Given the description of an element on the screen output the (x, y) to click on. 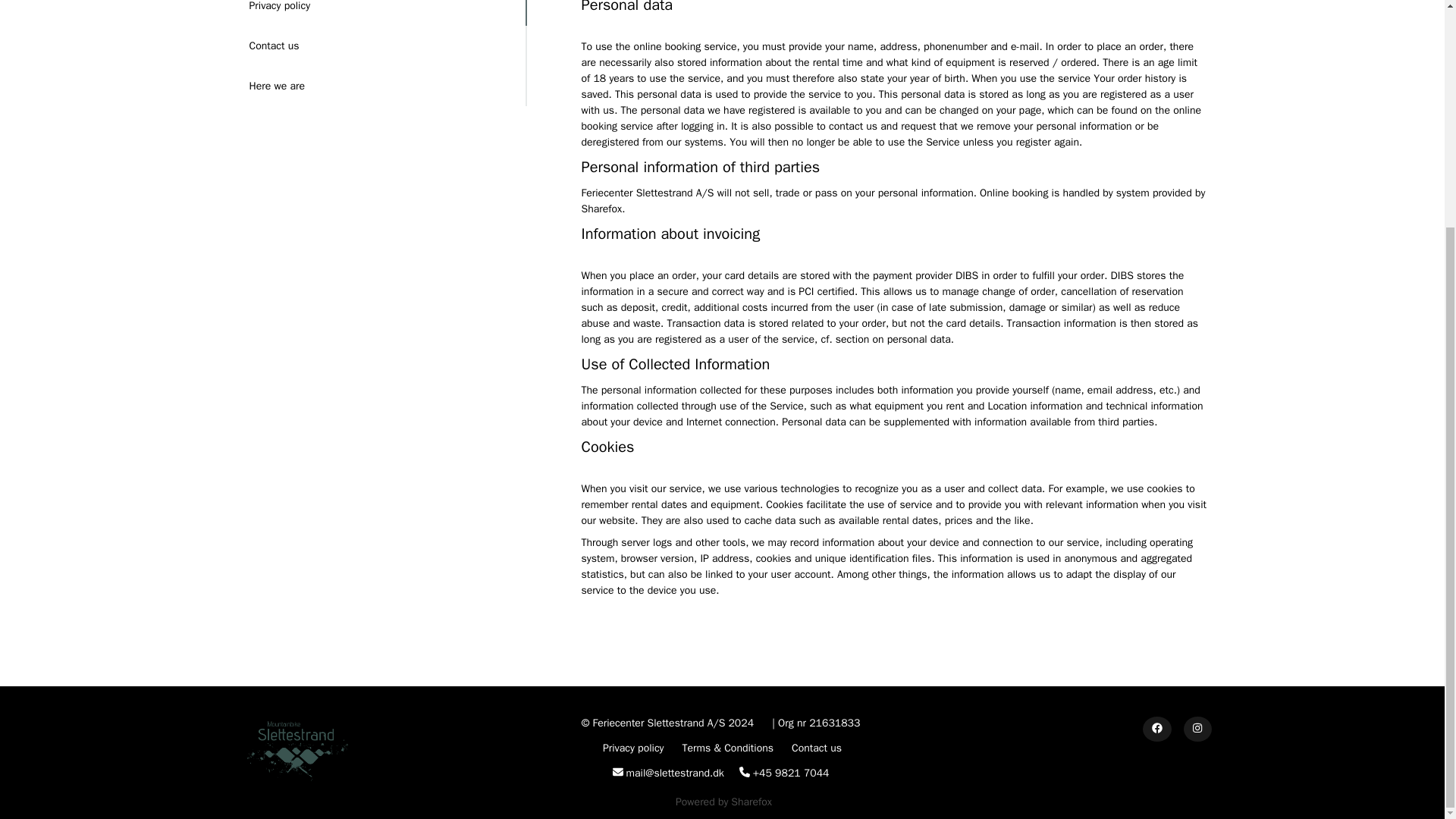
Sharefox (750, 801)
Privacy policy (635, 748)
Contact us (816, 748)
Privacy policy (380, 12)
Contact us (380, 45)
Here we are (380, 86)
